Given the description of an element on the screen output the (x, y) to click on. 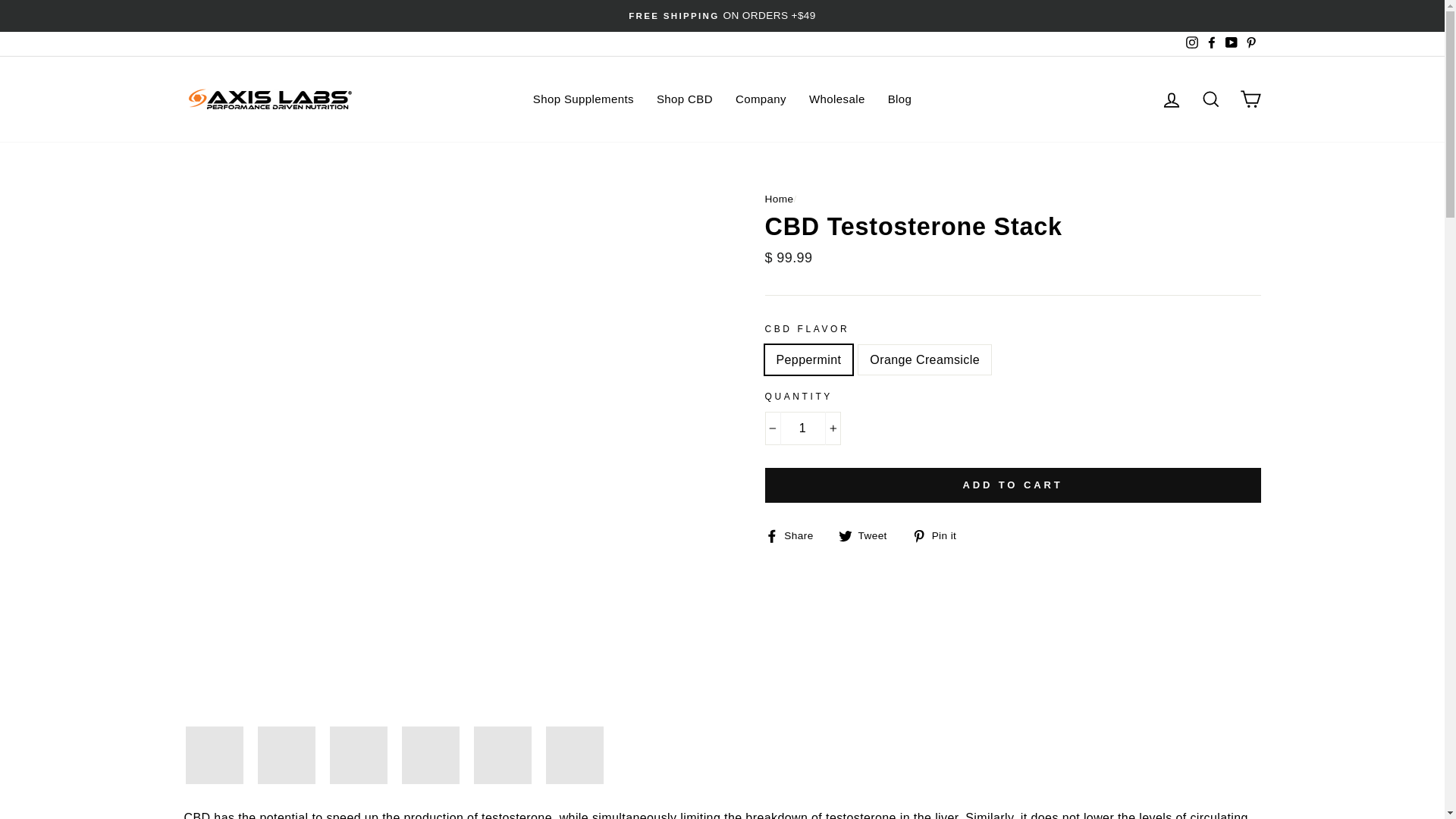
Pin on Pinterest (940, 535)
Back to the frontpage (778, 197)
Share on Facebook (794, 535)
1 (802, 428)
Tweet on Twitter (868, 535)
